Given the description of an element on the screen output the (x, y) to click on. 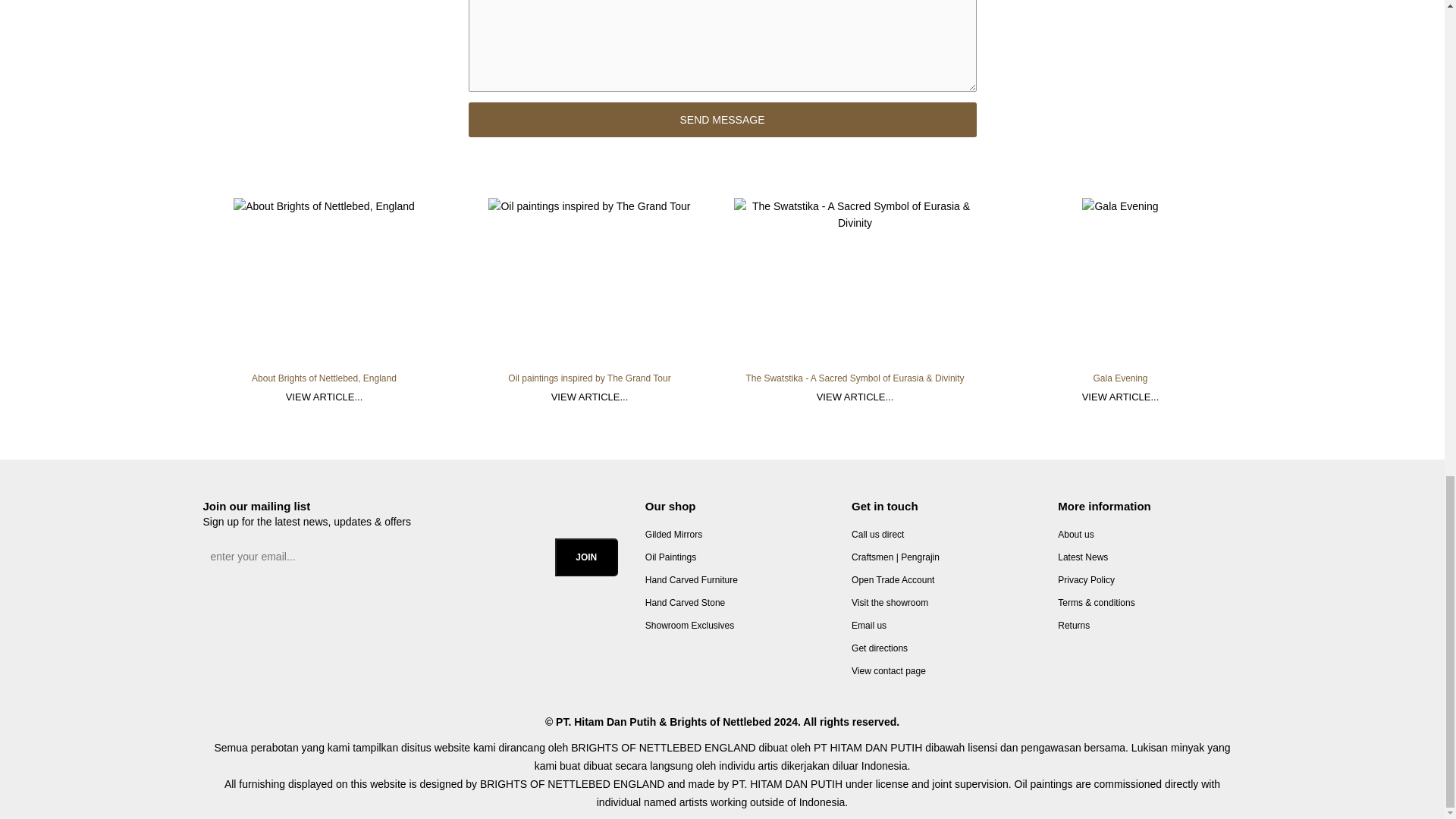
VIEW ARTICLE... (324, 397)
JOIN (585, 557)
VIEW ARTICLE... (589, 397)
SEND MESSAGE (722, 119)
VIEW ARTICLE... (1119, 397)
VIEW ARTICLE... (854, 397)
